Given the description of an element on the screen output the (x, y) to click on. 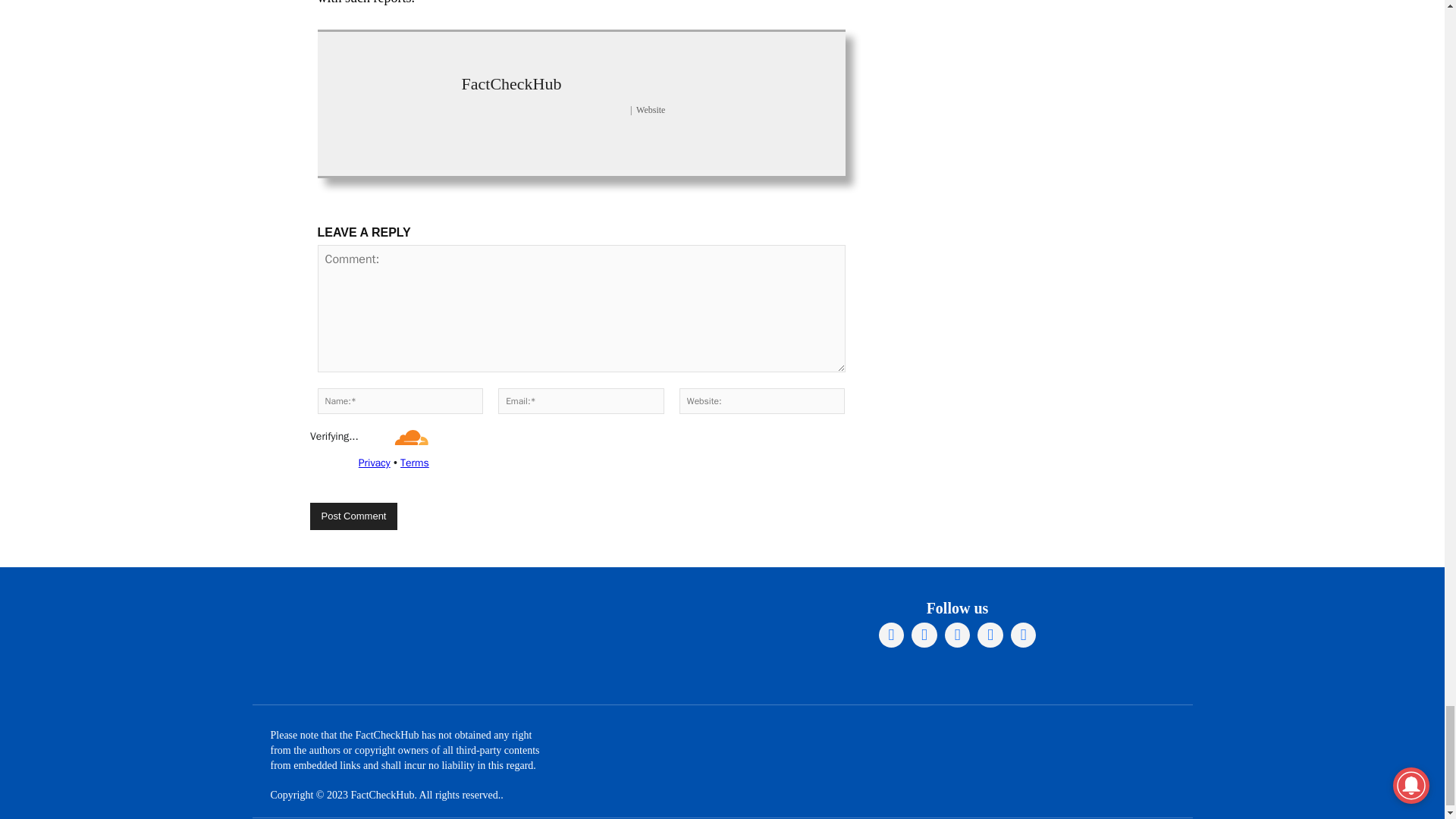
Post Comment (352, 515)
